Given the description of an element on the screen output the (x, y) to click on. 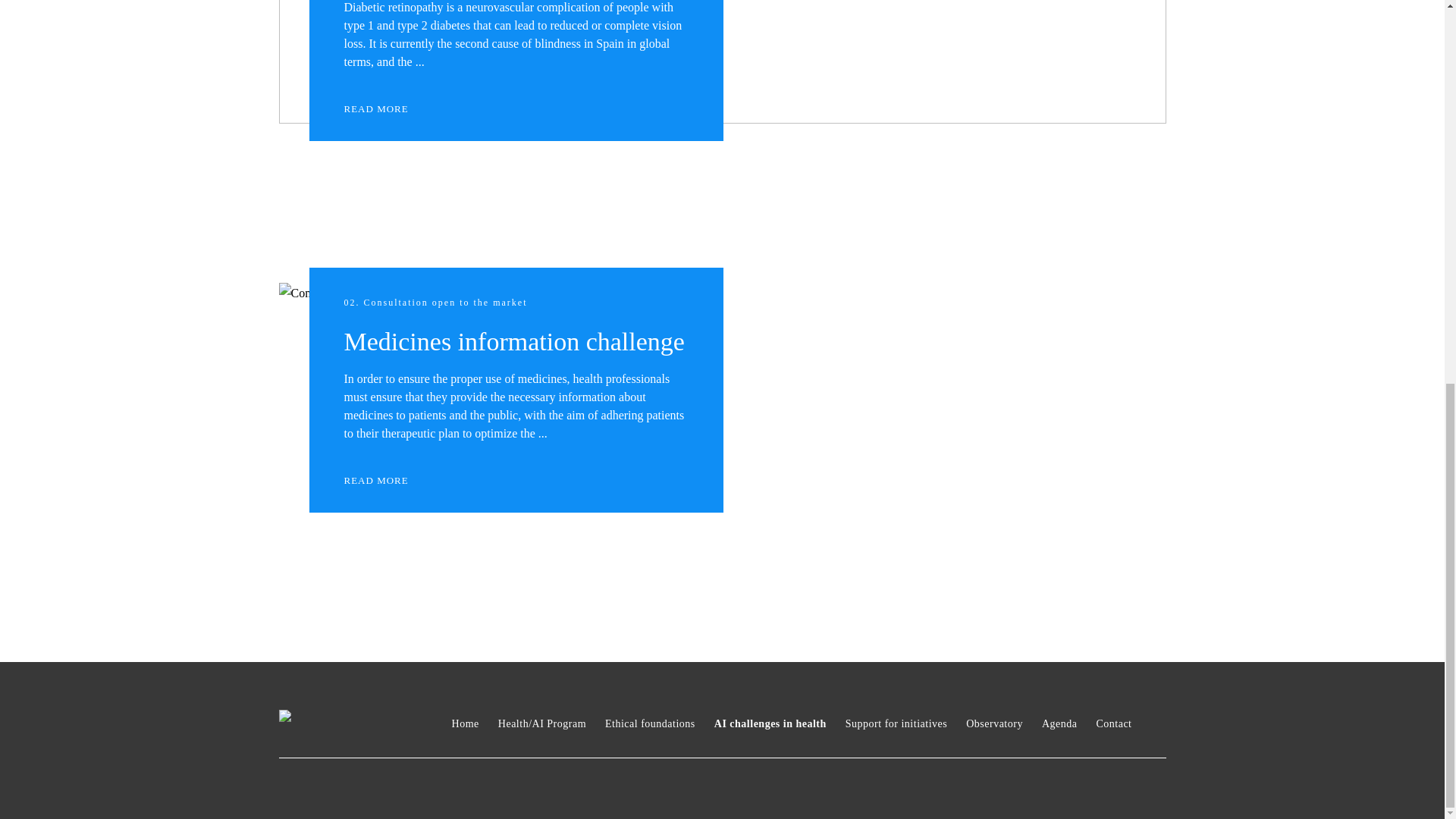
READ MORE (389, 480)
Home (465, 723)
Observatory (994, 723)
Ethical foundations (650, 723)
Contact (1113, 723)
Support for initiatives (896, 723)
READ MORE (389, 109)
AI challenges in health (770, 723)
Agenda (1059, 723)
